Given the description of an element on the screen output the (x, y) to click on. 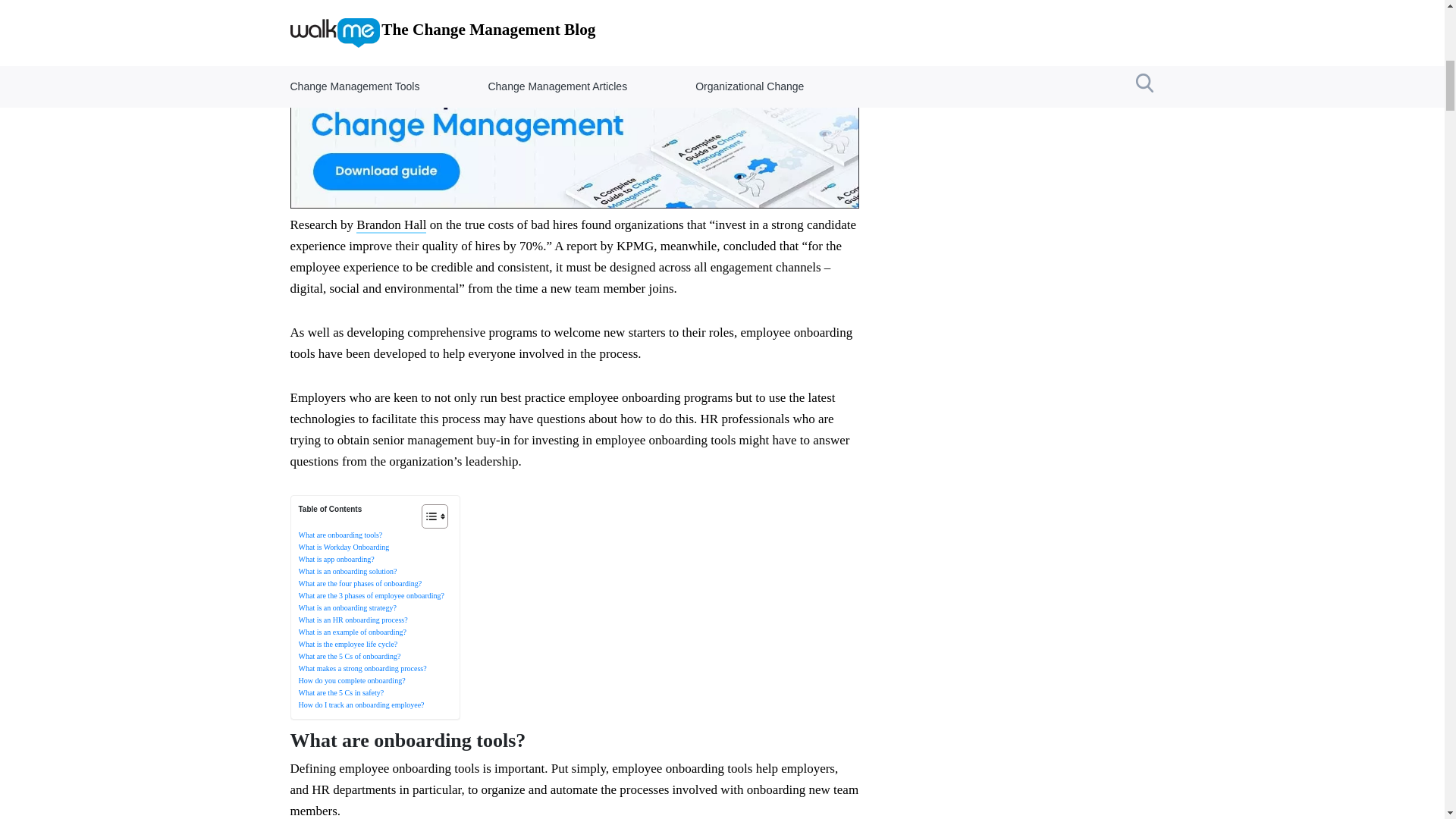
What are onboarding tools? (340, 534)
What is the employee life cycle? (347, 643)
What are the 3 phases of employee onboarding? (371, 595)
What is an onboarding solution? (347, 571)
What are onboarding tools? (340, 534)
What makes a strong onboarding process? (362, 668)
How do I track an onboarding employee? (361, 705)
What is app onboarding? (336, 559)
What is an onboarding solution? (347, 571)
How do I track an onboarding employee? (361, 705)
What are the 3 phases of employee onboarding? (371, 595)
What is Workday Onboarding (344, 546)
What is Workday Onboarding (344, 546)
What is an HR onboarding process? (352, 619)
What are the 5 Cs in safety? (341, 692)
